Given the description of an element on the screen output the (x, y) to click on. 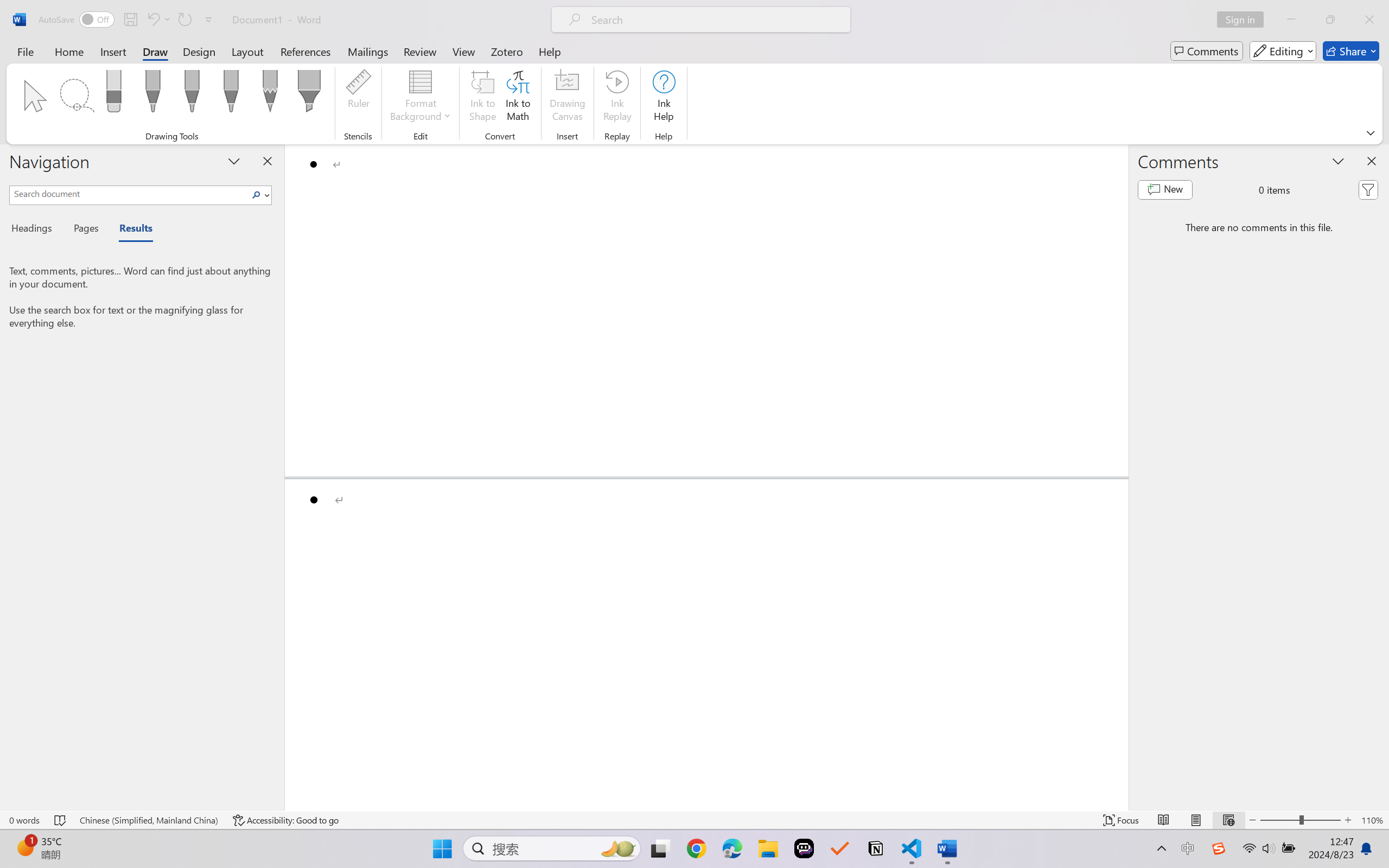
Ink Replay (617, 97)
Headings (35, 229)
New comment (1165, 189)
Search document (128, 193)
